Given the description of an element on the screen output the (x, y) to click on. 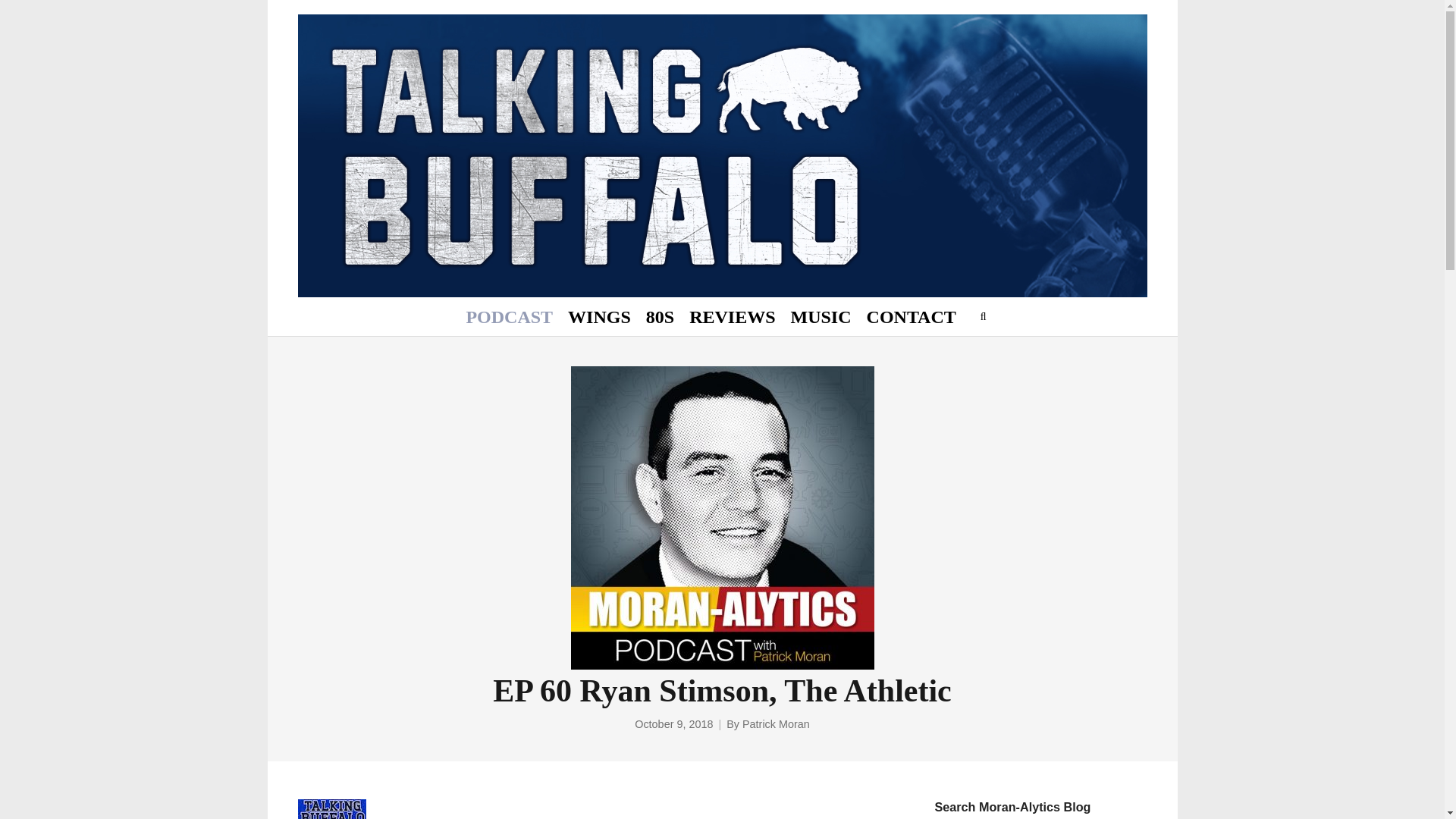
MUSIC (821, 316)
WINGS (599, 316)
CONTACT (911, 316)
PODCAST (509, 316)
80S (660, 316)
Patrick Moran (775, 724)
REVIEWS (732, 316)
